Given the description of an element on the screen output the (x, y) to click on. 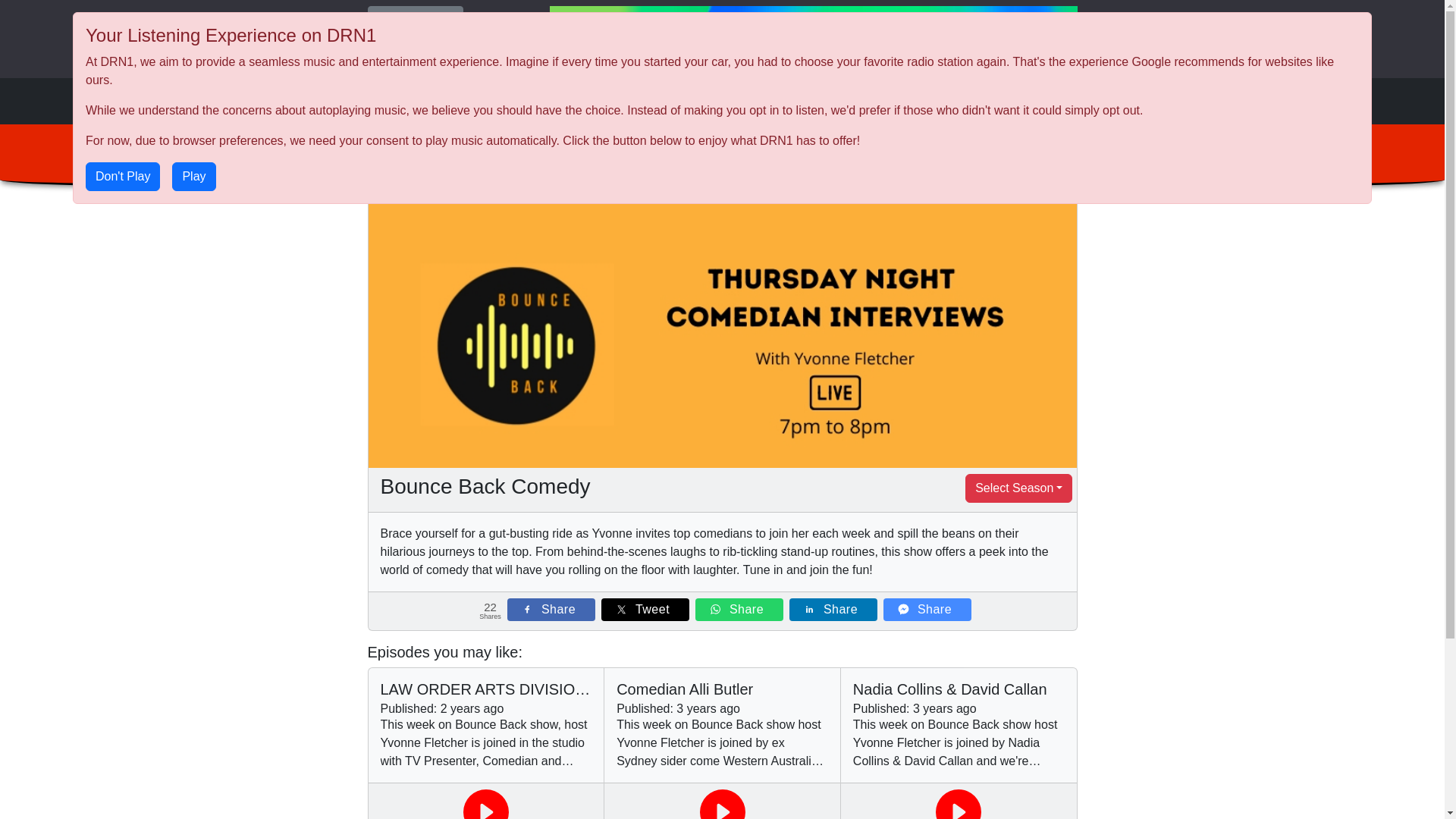
Shows Element type: text (937, 101)
News Element type: text (982, 101)
Change Station Element type: text (414, 17)
Shop Local Element type: text (1040, 101)
Don't Play Element type: text (122, 176)
Home Element type: text (891, 101)
PodToo Element type: hover (812, 39)
Select Season Element type: text (1018, 487)
Play Element type: text (193, 176)
DRN1 Element type: text (395, 101)
